Given the description of an element on the screen output the (x, y) to click on. 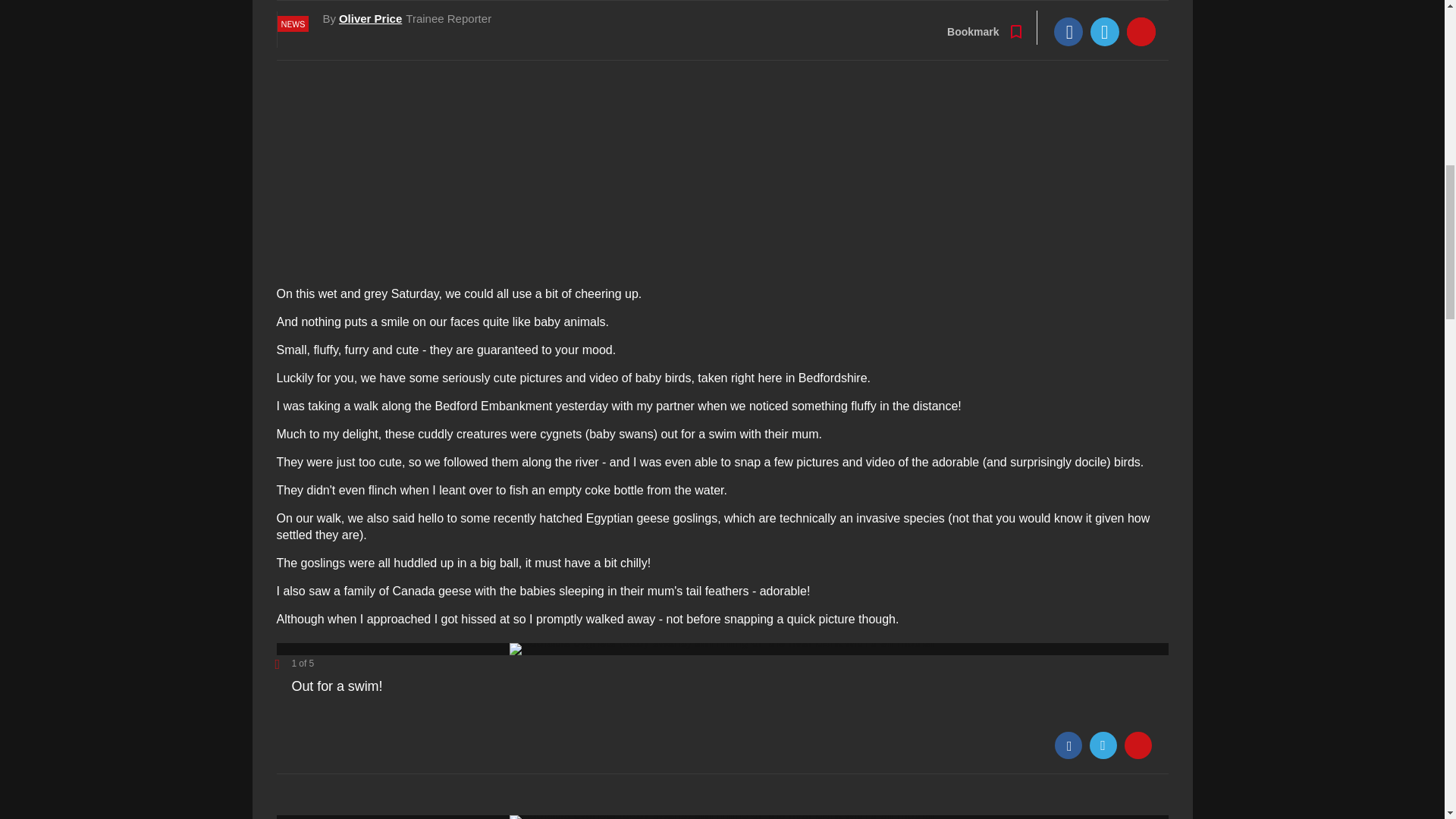
Facebook (1067, 745)
Twitter (1102, 745)
